Given the description of an element on the screen output the (x, y) to click on. 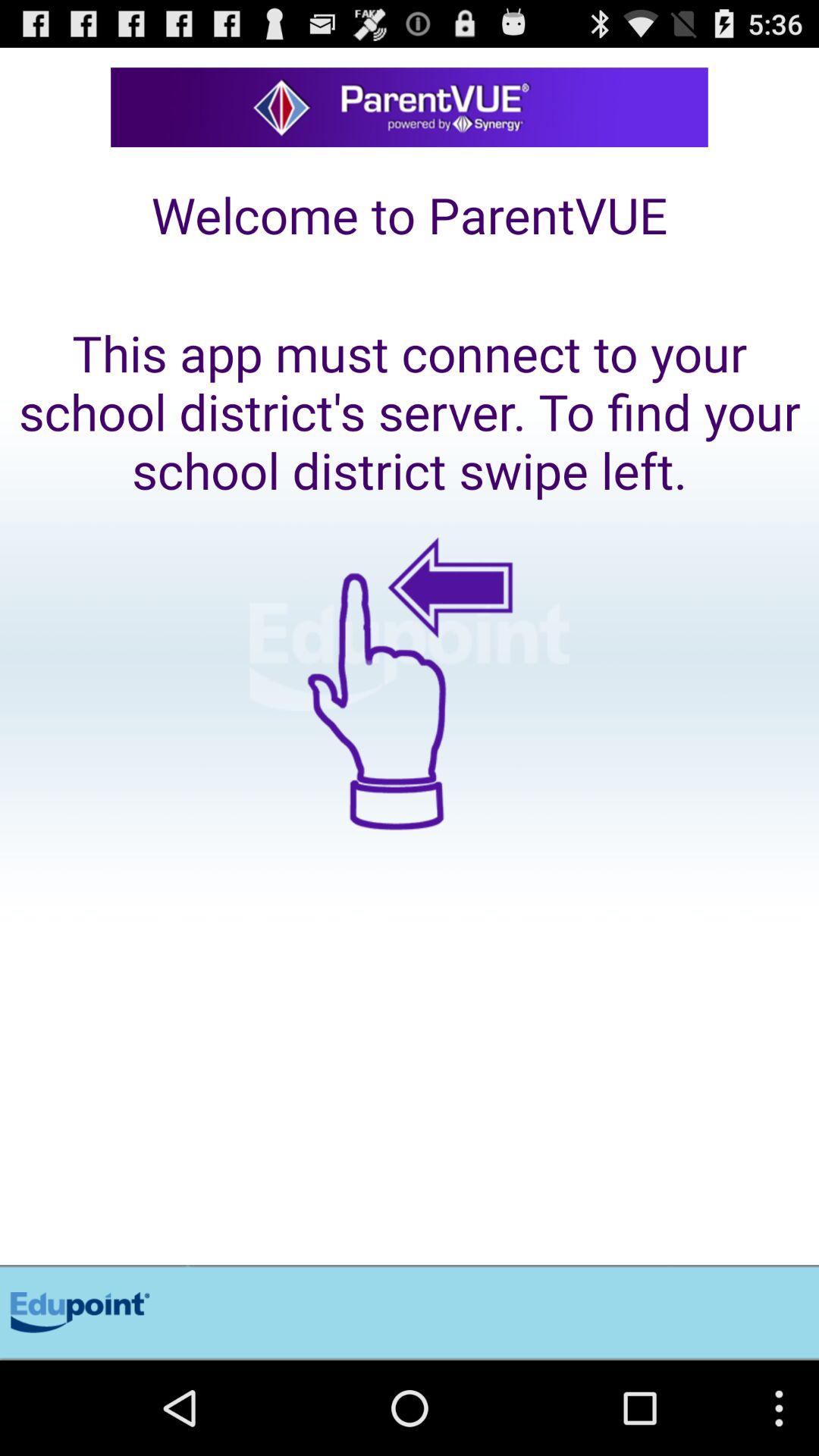
swipe (409, 883)
